Given the description of an element on the screen output the (x, y) to click on. 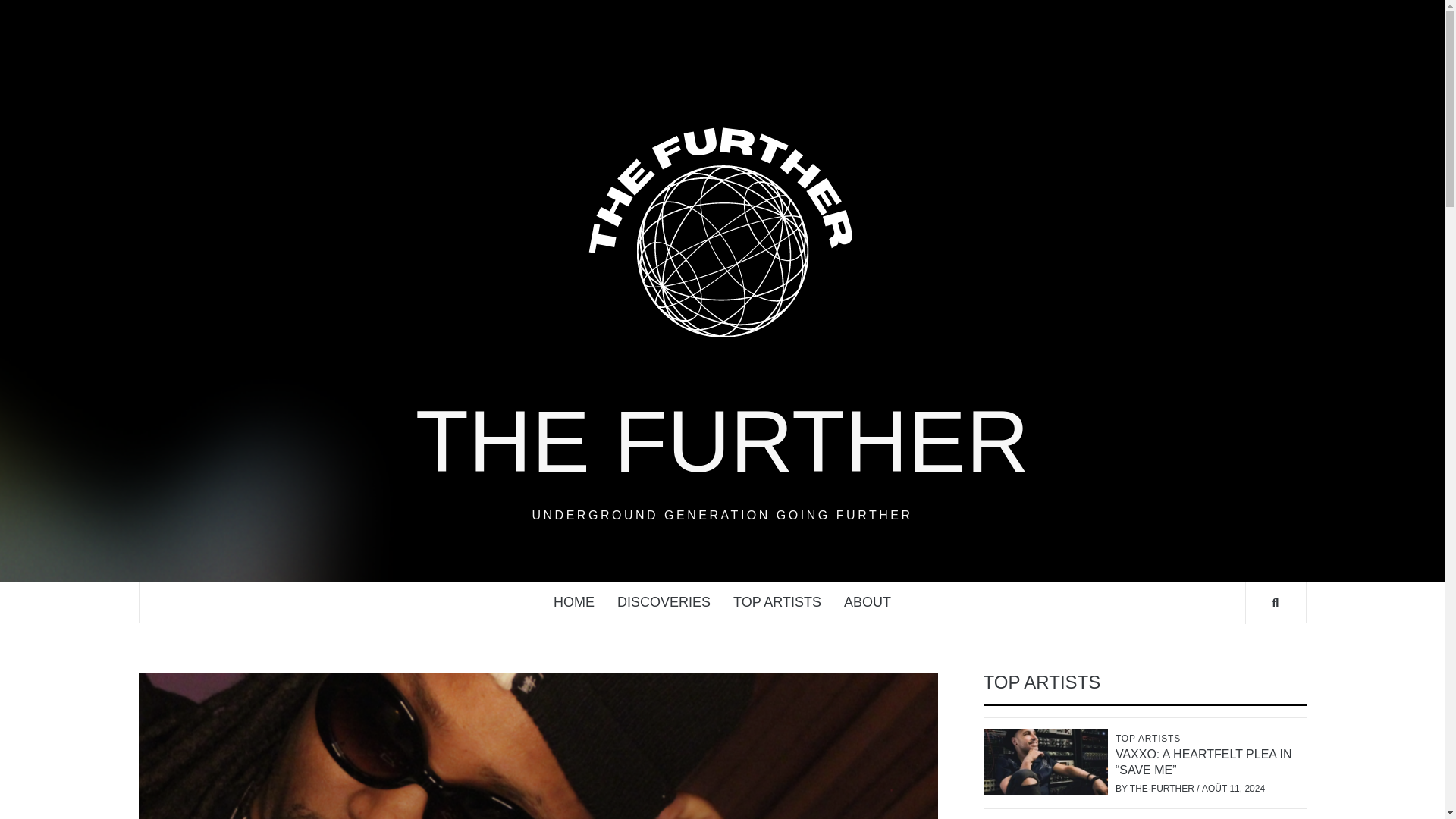
THE FURTHER (722, 441)
HOME (573, 602)
THE-FURTHER (1162, 787)
DISCOVERIES (663, 602)
TOP ARTISTS (777, 602)
TOP ARTISTS (1150, 737)
ABOUT (867, 602)
